Given the description of an element on the screen output the (x, y) to click on. 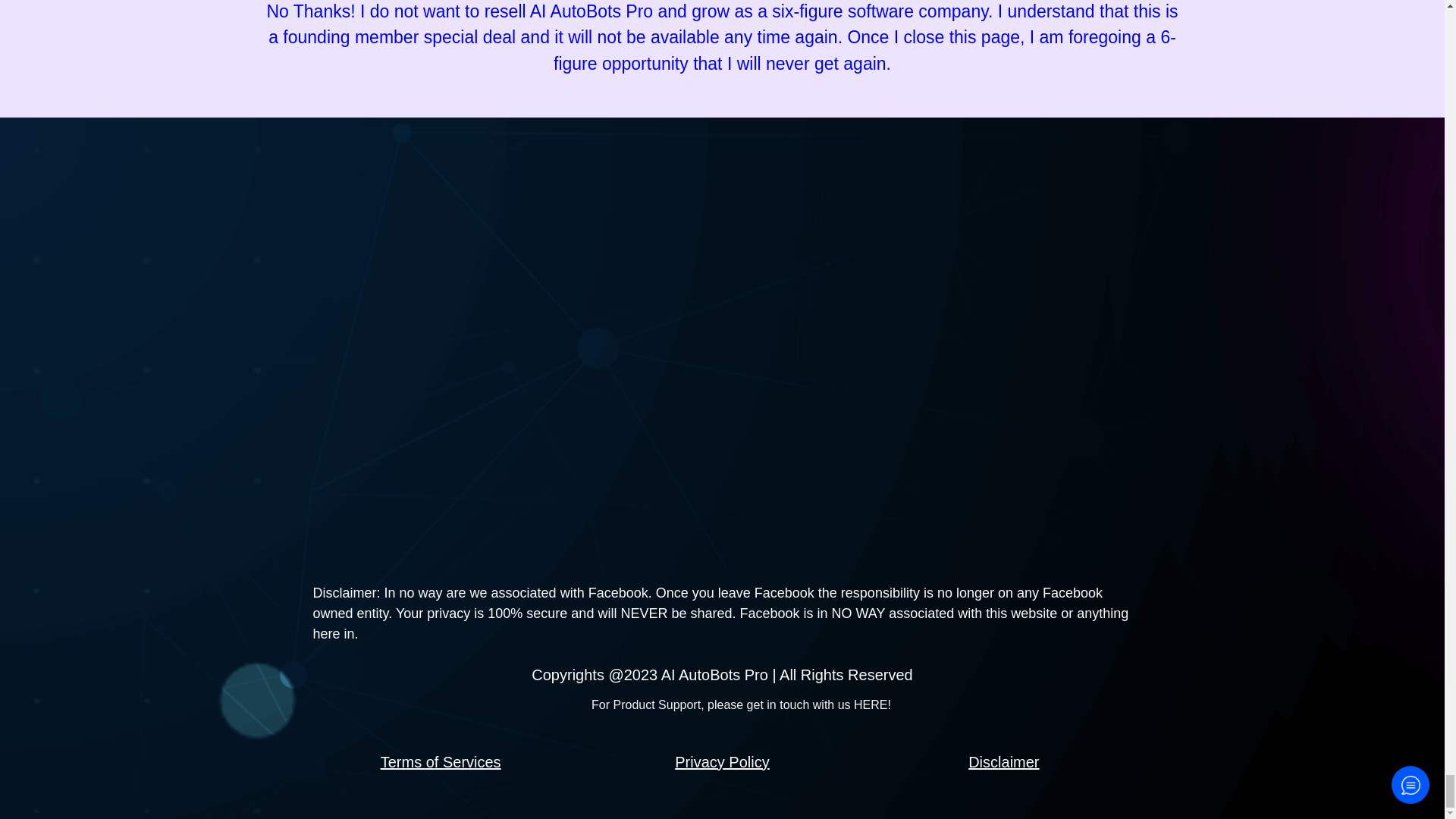
Terms of Services (440, 761)
Privacy Policy (721, 761)
For Product Support, please get in touch with us HERE! (741, 704)
Disclaimer (1003, 761)
